Given the description of an element on the screen output the (x, y) to click on. 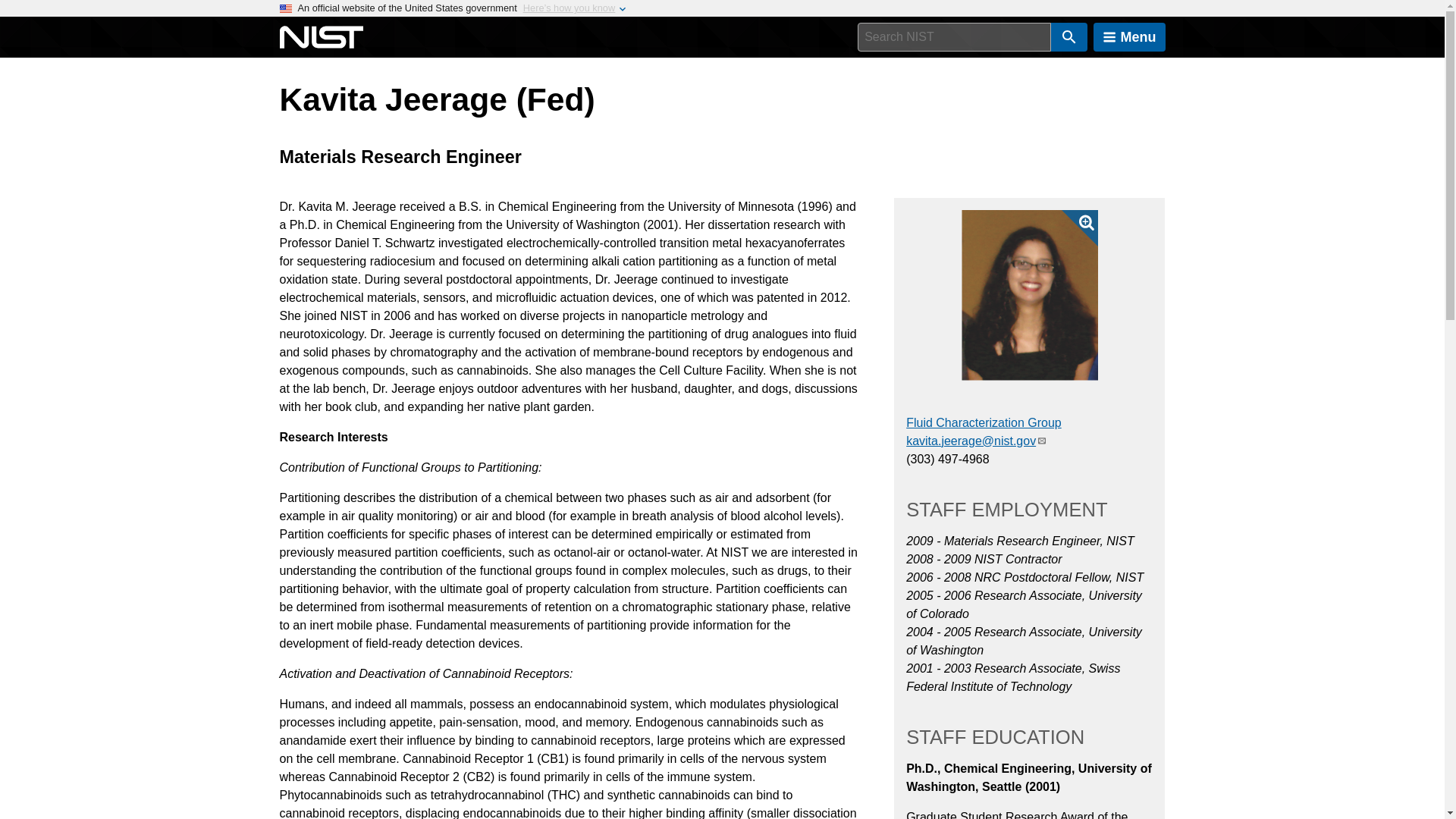
National Institute of Standards and Technology (320, 36)
Fluid Characterization Group (983, 422)
Menu (1129, 36)
